Given the description of an element on the screen output the (x, y) to click on. 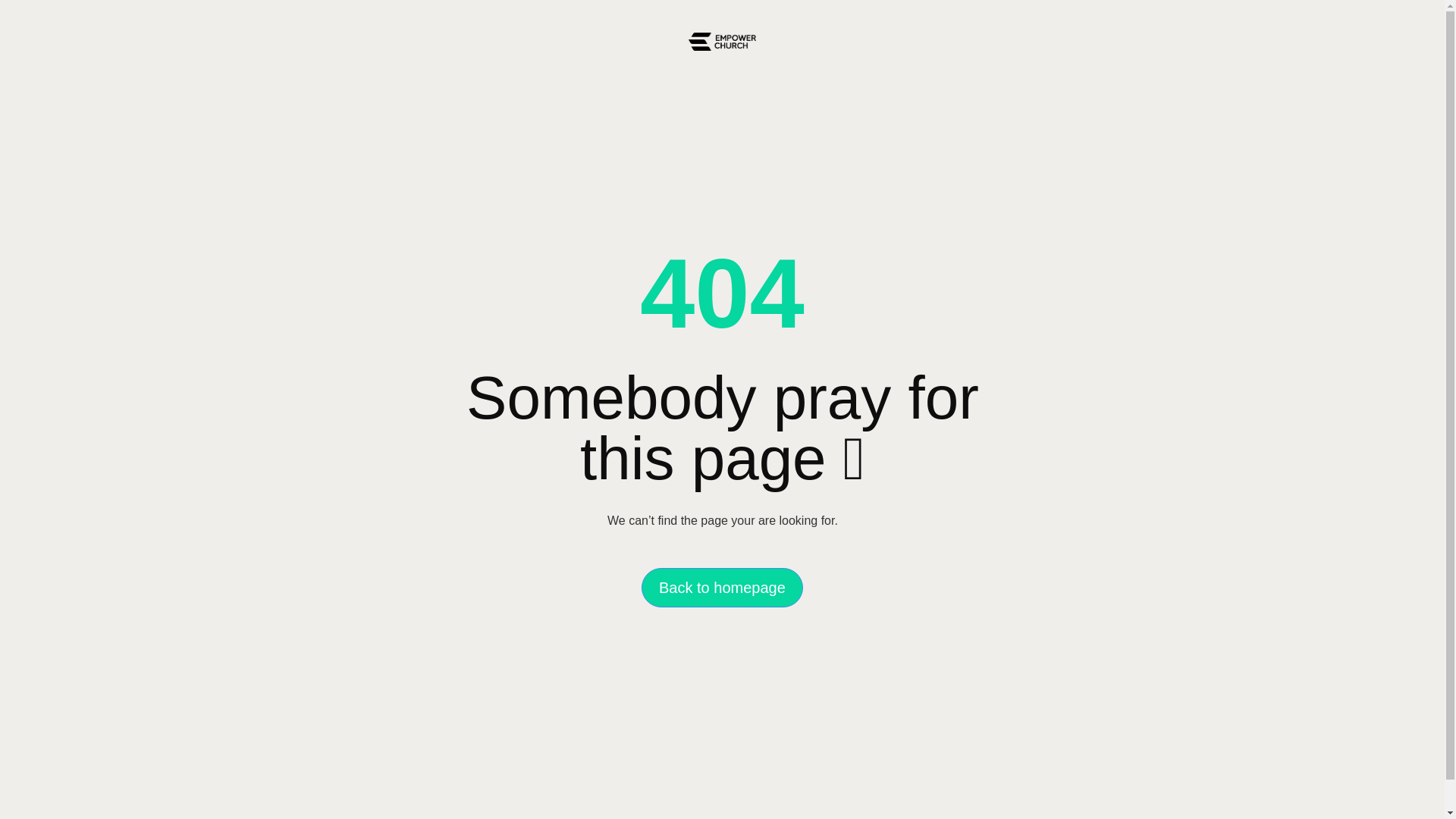
Back to homepage Element type: text (722, 587)
